Given the description of an element on the screen output the (x, y) to click on. 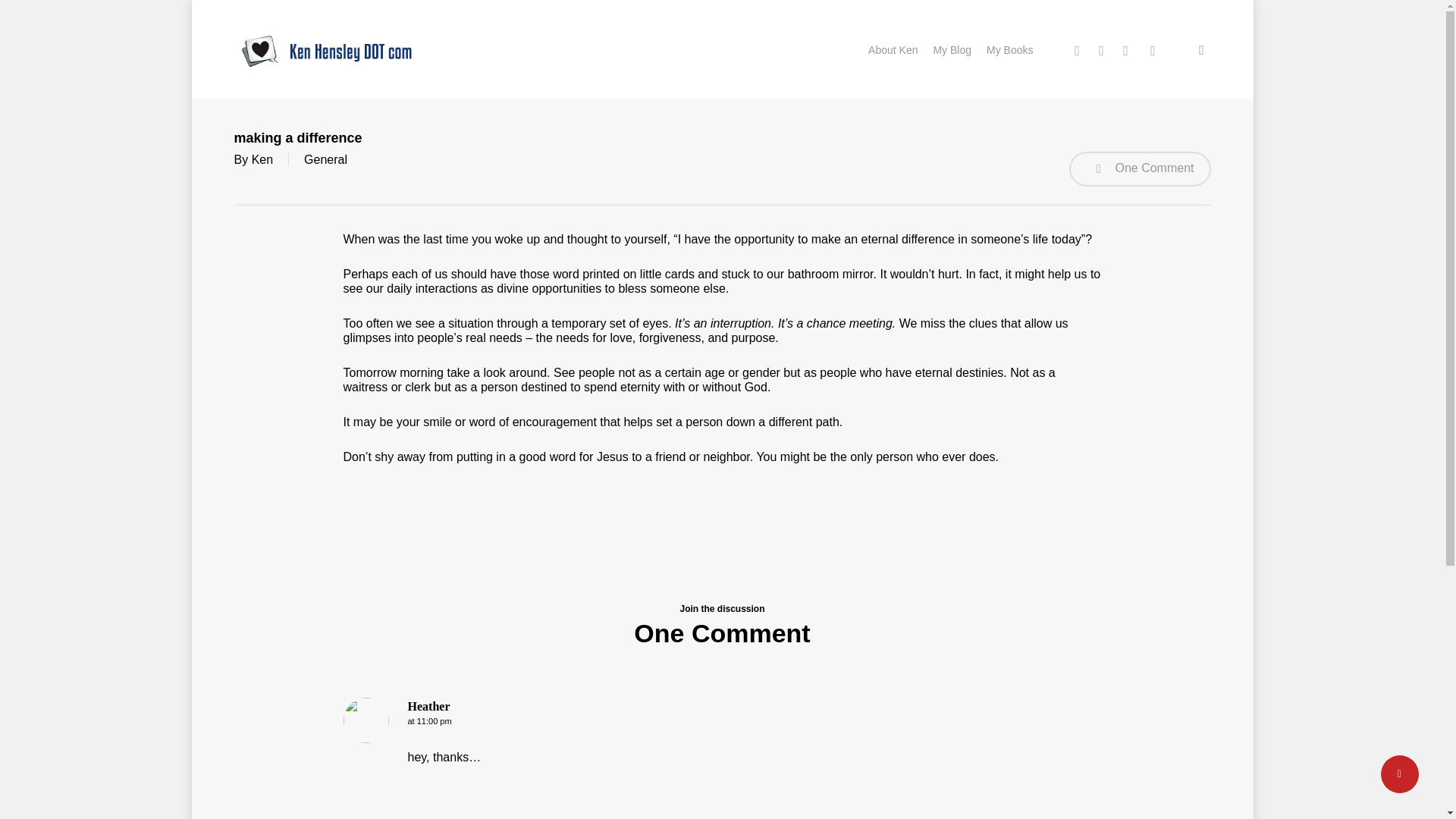
Pickleball Principles for a Better Life (598, 545)
One Comment (1138, 168)
Church (751, 548)
General (753, 609)
My Blog (951, 49)
Church Planting (775, 568)
General (325, 159)
Warner University (1078, 566)
Posts by Ken (262, 159)
How to Make Better Decisions (598, 645)
youtube (1152, 48)
Networking or Relationship Building (598, 595)
About Ken (892, 49)
How to Speed Up Your Team (598, 620)
facebook (1101, 48)
